Given the description of an element on the screen output the (x, y) to click on. 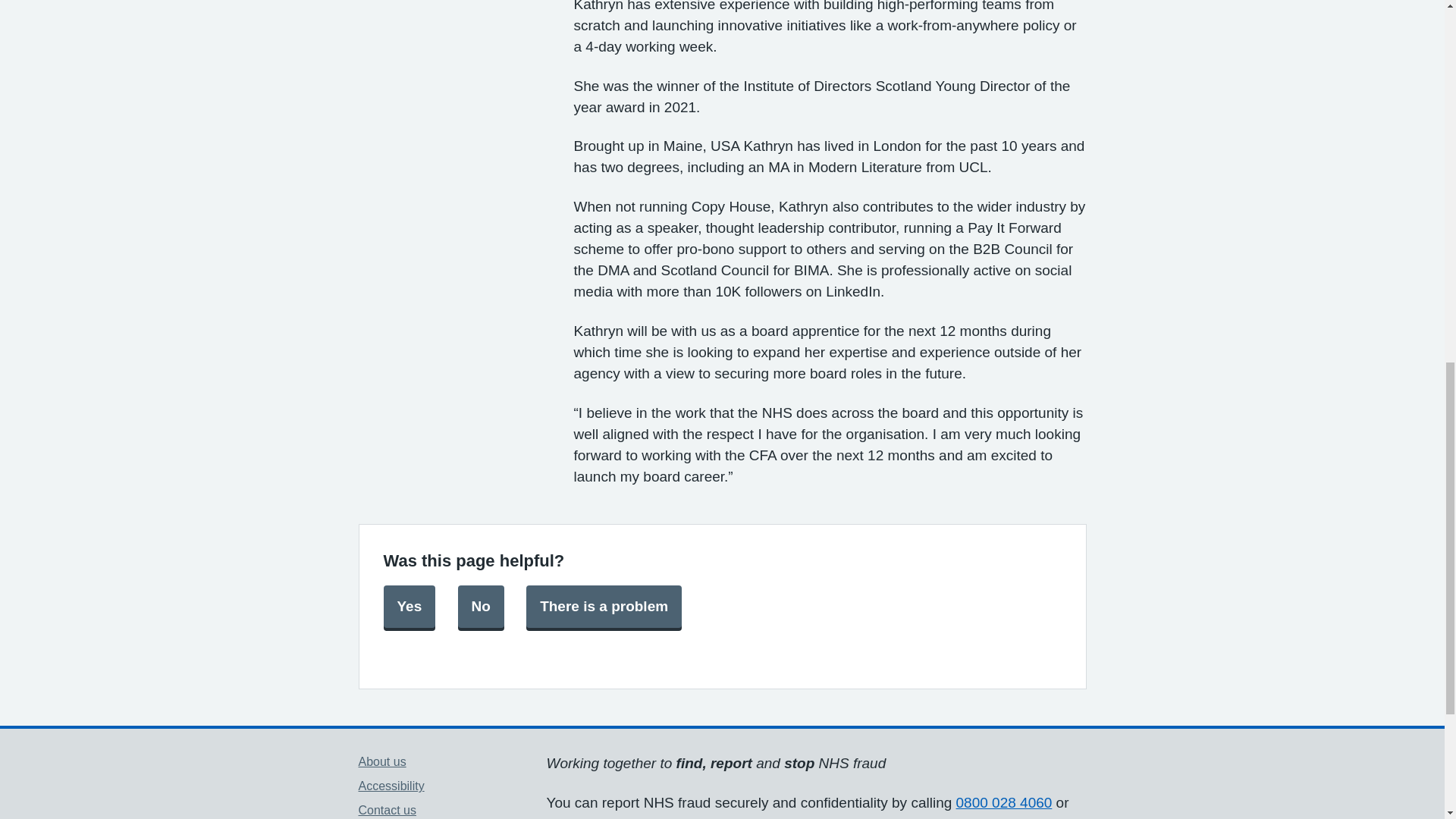
Initiate native telephone dialer to call 08000284060 (1004, 802)
No - this page is NOT helpful (480, 606)
Yes - this page is helpful (409, 606)
